Given the description of an element on the screen output the (x, y) to click on. 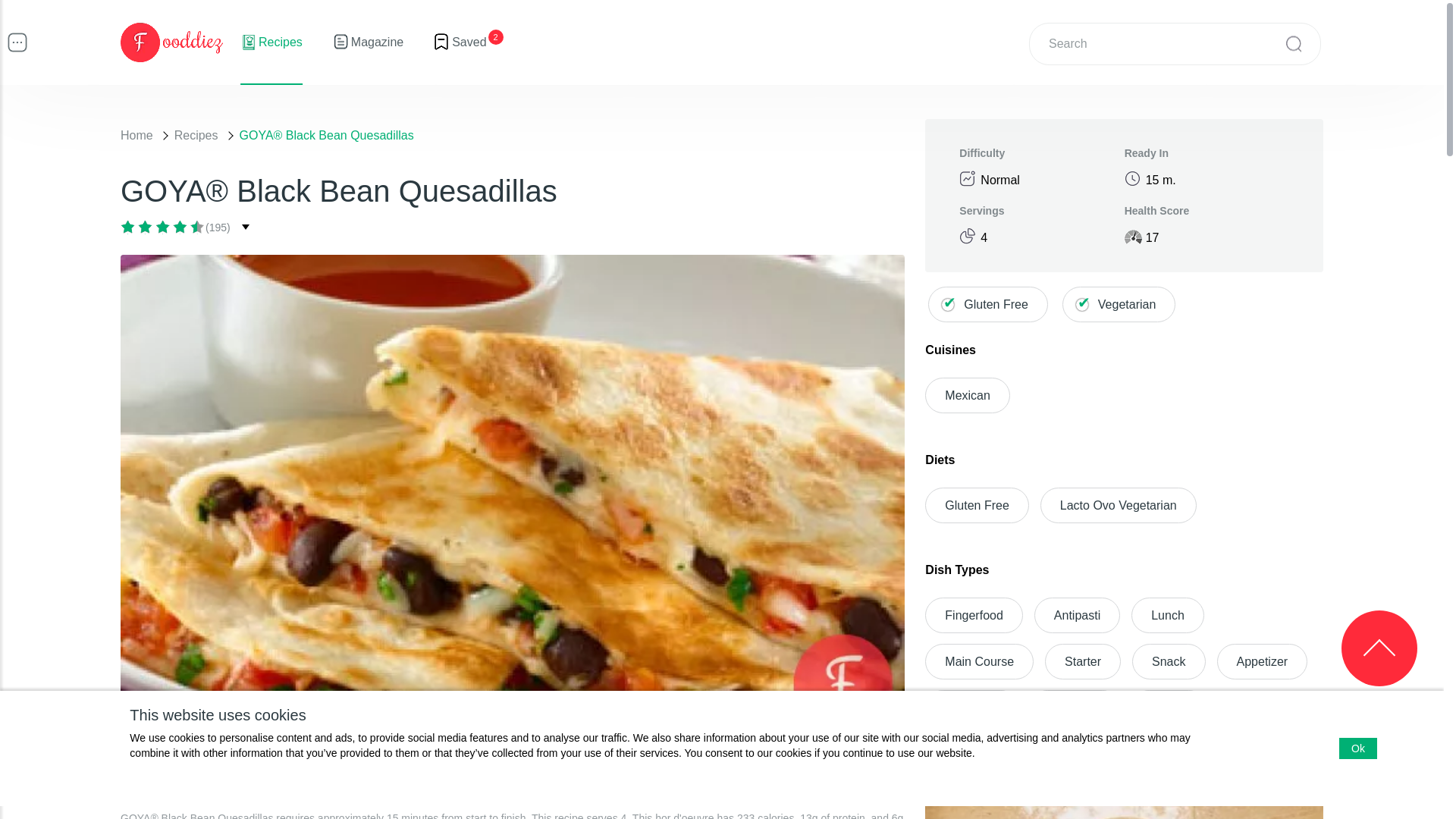
Home (136, 134)
Fingerfood (973, 615)
Lunch (1167, 615)
Lacto Ovo Vegetarian (1118, 505)
Snack (1168, 661)
Pin it! (783, 775)
Antipasti (1076, 615)
Starter (1083, 661)
Gluten Free (987, 304)
Antipasto (1074, 707)
Appetizer (1262, 661)
Mexican (967, 395)
Vegetarian (1119, 304)
Main Course (978, 661)
Print (832, 775)
